Given the description of an element on the screen output the (x, y) to click on. 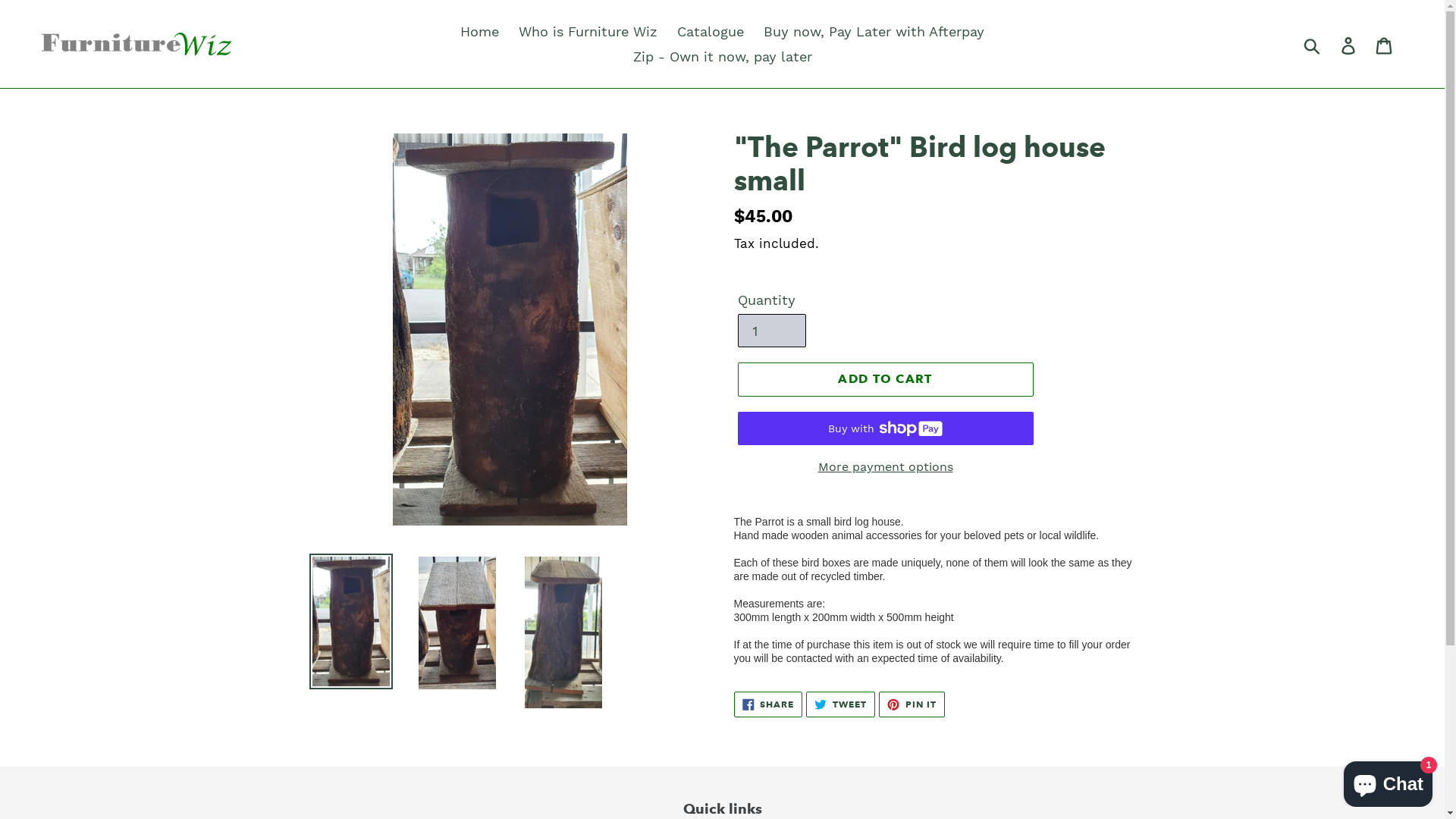
Who is Furniture Wiz Element type: text (588, 30)
Cart Element type: text (1384, 43)
PIN IT
PIN ON PINTEREST Element type: text (911, 704)
Submit Element type: text (1312, 43)
TWEET
TWEET ON TWITTER Element type: text (840, 704)
Log in Element type: text (1349, 43)
Shopify online store chat Element type: hover (1388, 780)
Zip - Own it now, pay later Element type: text (721, 56)
Buy now, Pay Later with Afterpay Element type: text (873, 30)
Home Element type: text (479, 30)
More payment options Element type: text (884, 466)
SHARE
SHARE ON FACEBOOK Element type: text (768, 704)
Catalogue Element type: text (710, 30)
ADD TO CART Element type: text (884, 378)
